Given the description of an element on the screen output the (x, y) to click on. 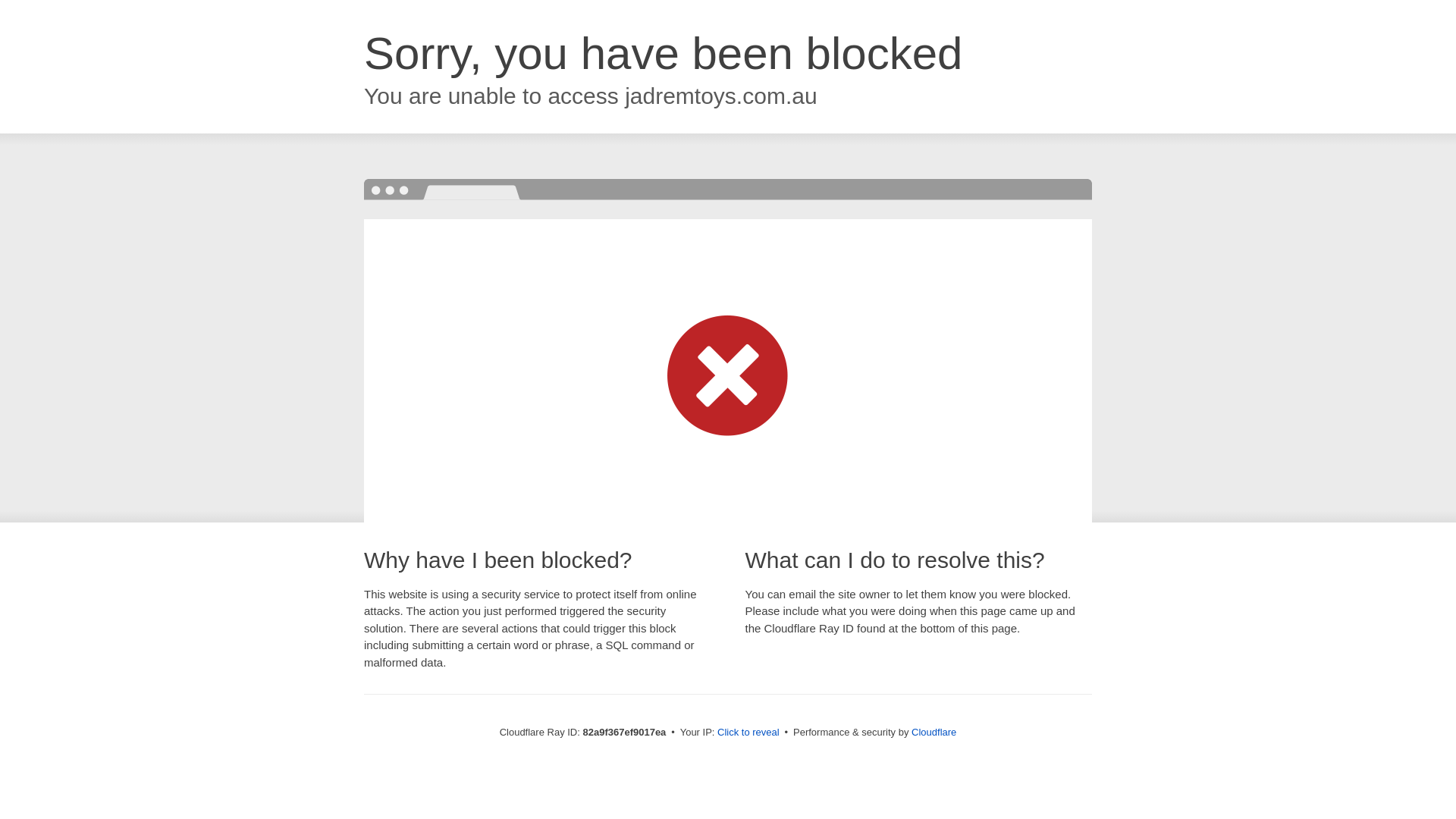
Cloudflare Element type: text (933, 731)
Click to reveal Element type: text (748, 732)
